Given the description of an element on the screen output the (x, y) to click on. 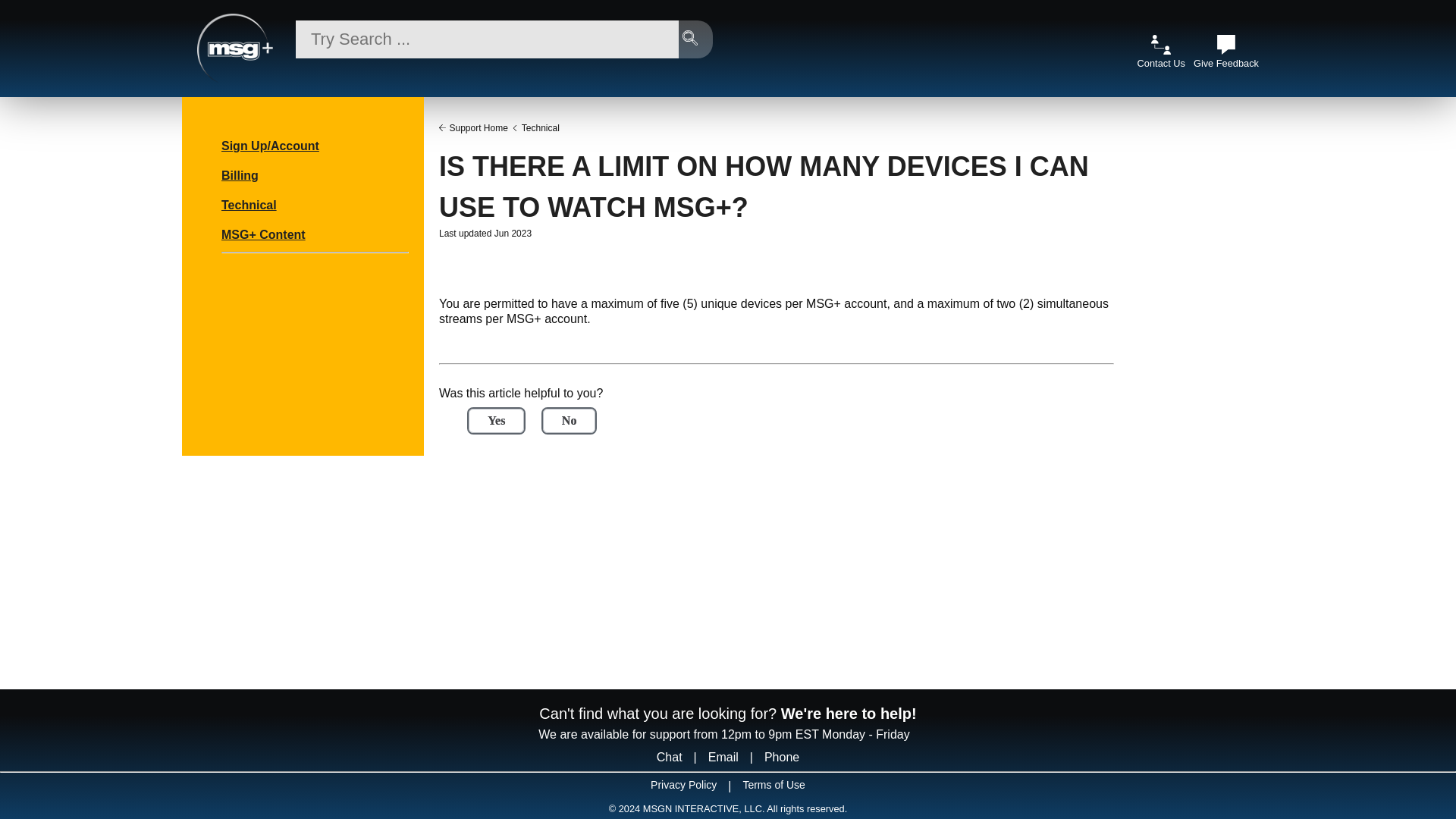
Technical (540, 128)
Support Home (477, 128)
Technical (248, 201)
Give Feedback (1226, 56)
Yes (496, 420)
Privacy Policy (683, 788)
Yes (496, 420)
Billing (240, 171)
Contact Us (1161, 56)
Phone (781, 756)
